Given the description of an element on the screen output the (x, y) to click on. 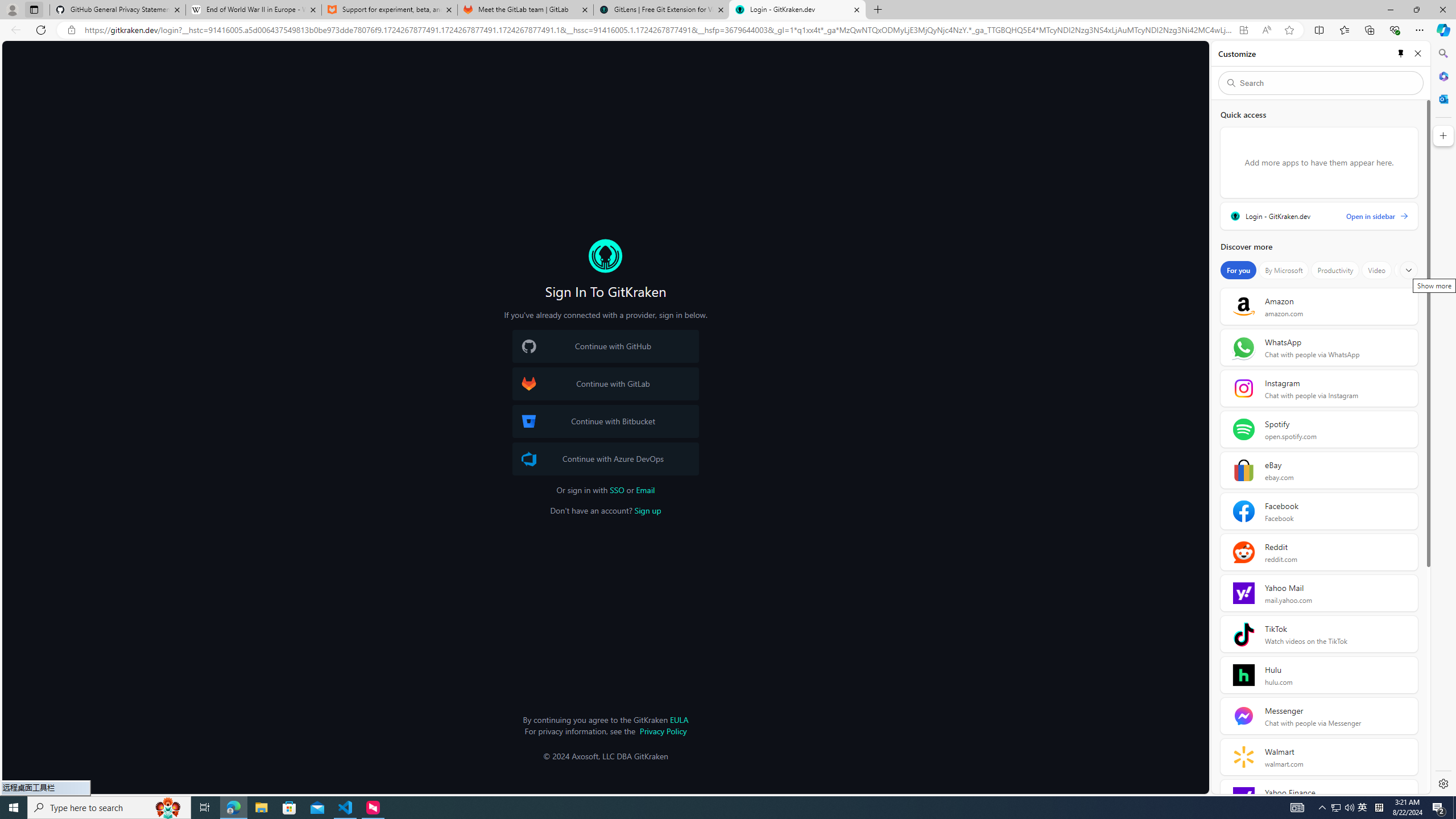
GitKraken (605, 255)
GitHub Logo (528, 346)
Azure DevOps Logo (528, 458)
End of World War II in Europe - Wikipedia (253, 9)
Azure DevOps Logo Continue with Azure DevOps (605, 458)
GitHub General Privacy Statement - GitHub Docs (117, 9)
